Given the description of an element on the screen output the (x, y) to click on. 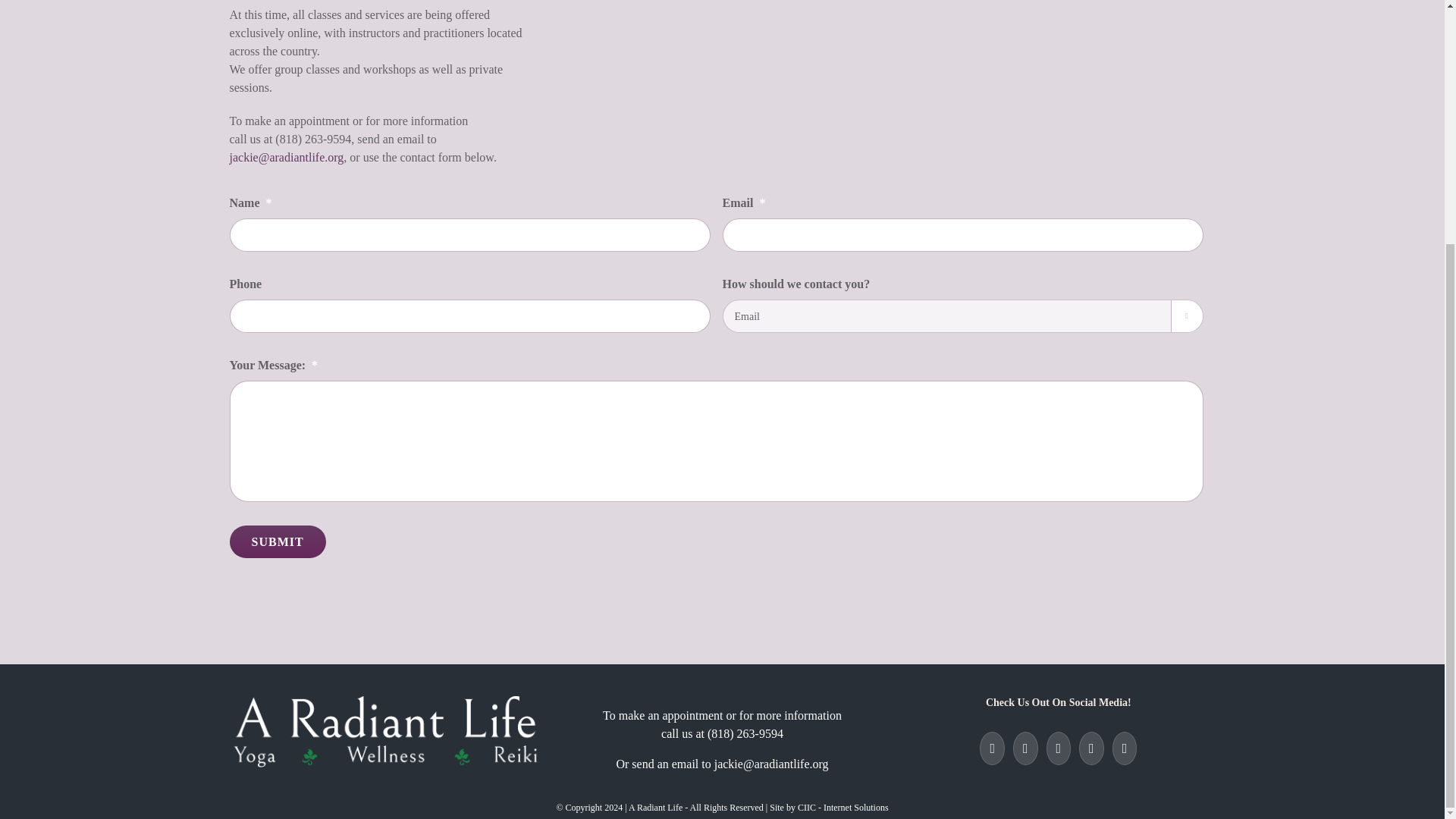
Submit (276, 541)
Submit (276, 541)
CIIC - Internet Solutions (842, 807)
